Given the description of an element on the screen output the (x, y) to click on. 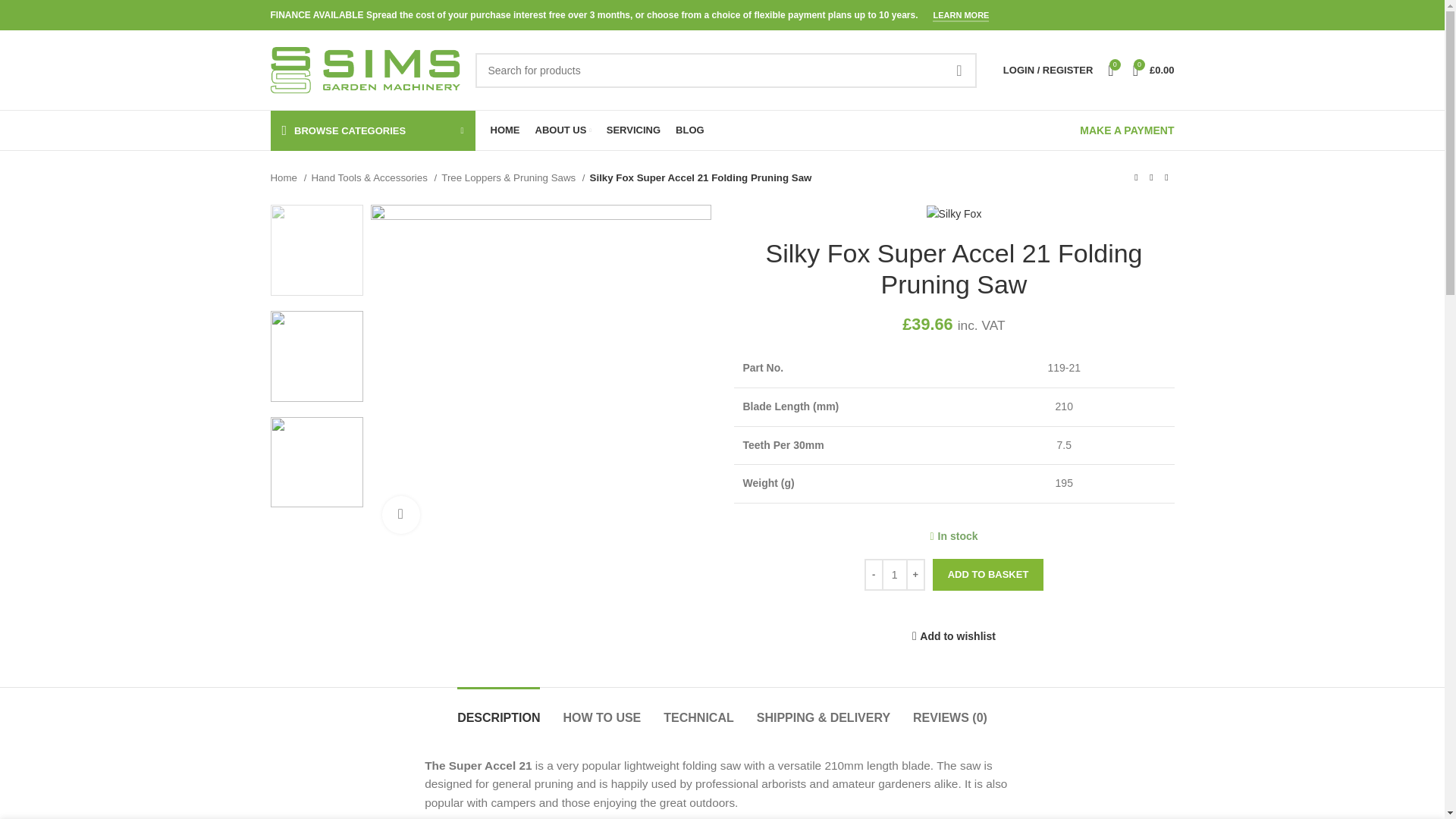
Search for products (724, 70)
Home (287, 177)
LEARN MORE (960, 16)
MAKE A PAYMENT (1126, 130)
My account (1047, 69)
Shopping cart (1153, 69)
SERVICING (634, 130)
BLOG (689, 130)
HOME (504, 130)
SEARCH (959, 70)
